Given the description of an element on the screen output the (x, y) to click on. 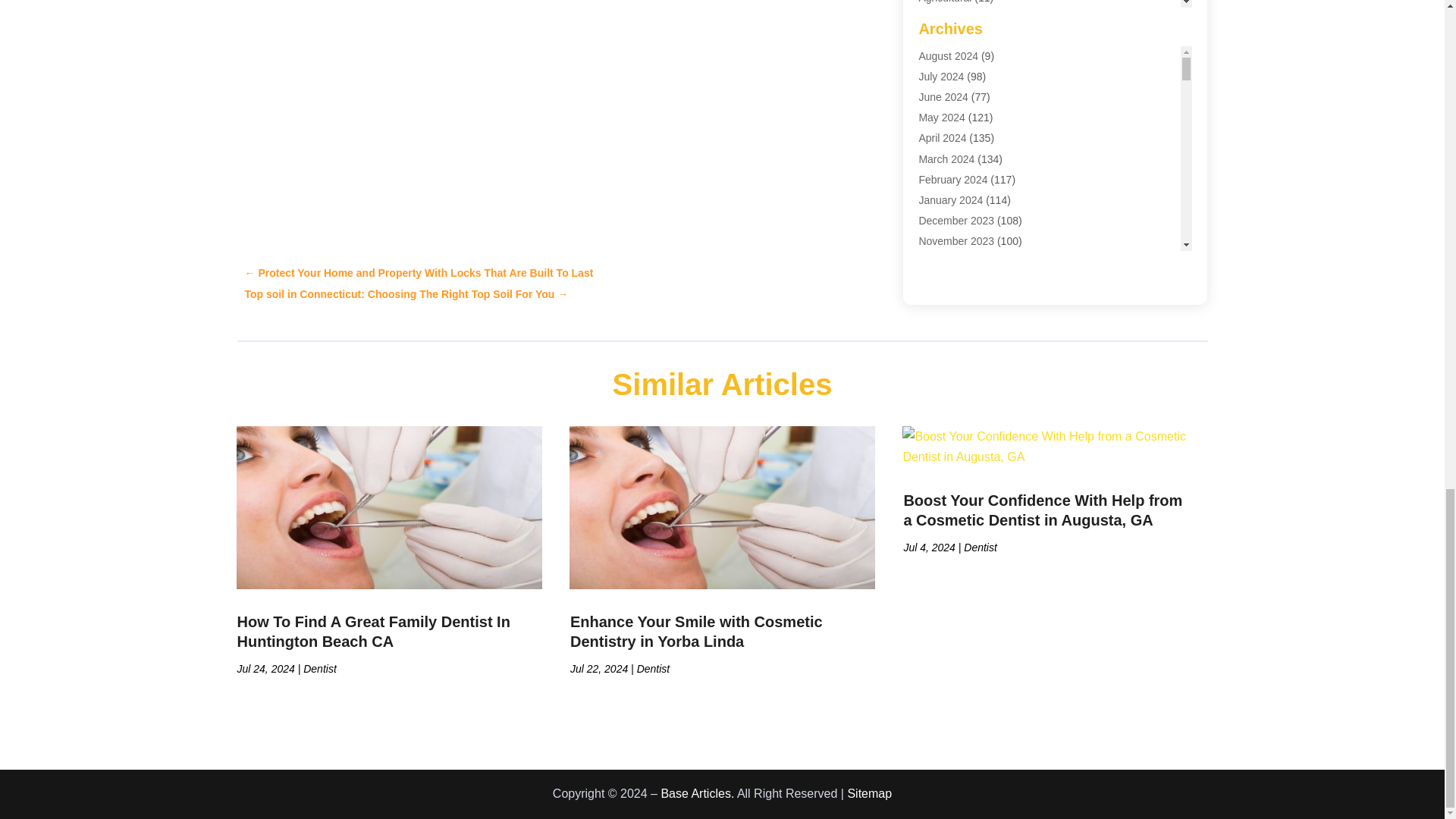
Agricultural (944, 2)
Agricultural Service (964, 19)
